Given the description of an element on the screen output the (x, y) to click on. 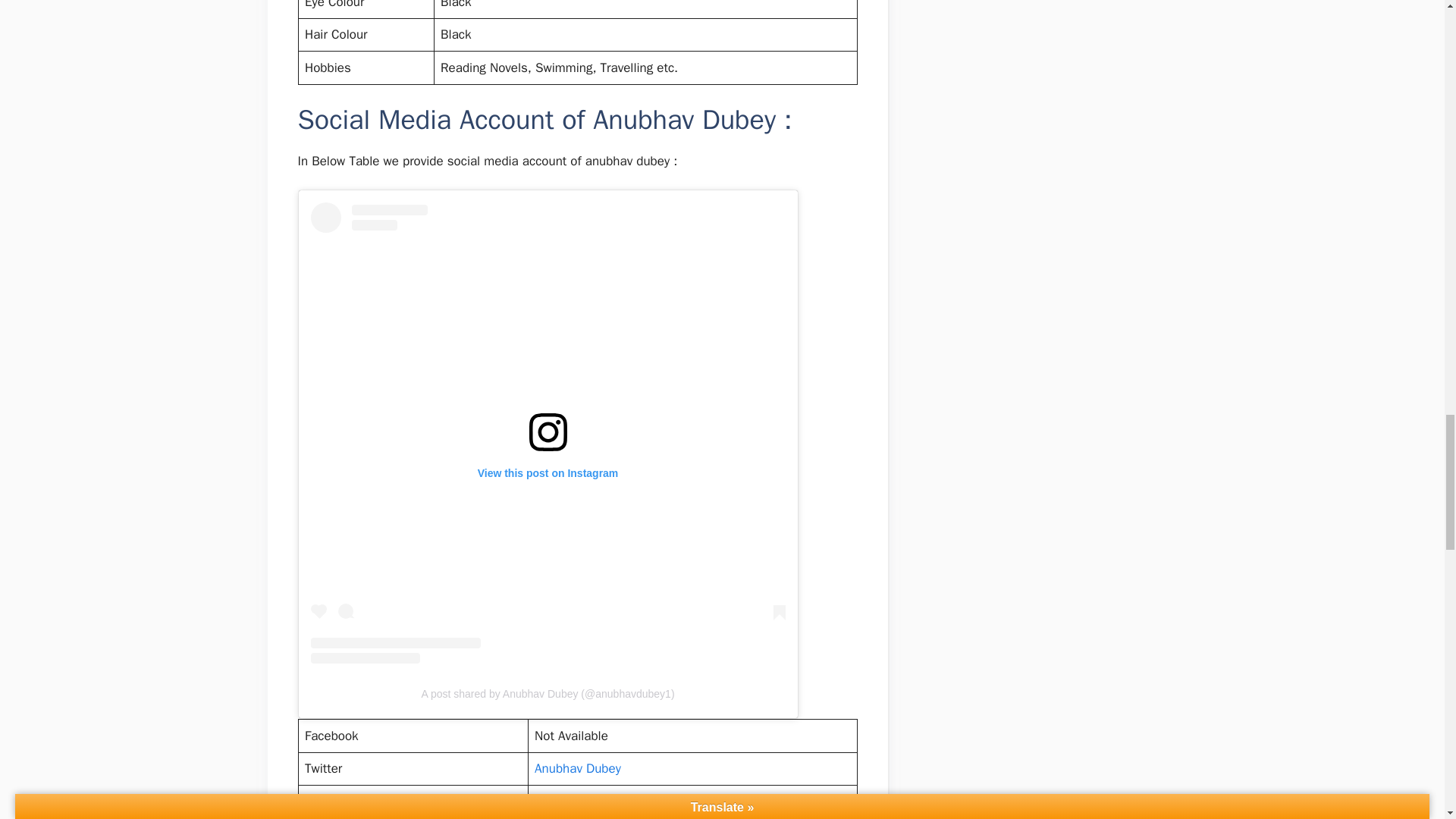
Anubhav Dubey (577, 768)
Anubhav Dubey (577, 801)
